Given the description of an element on the screen output the (x, y) to click on. 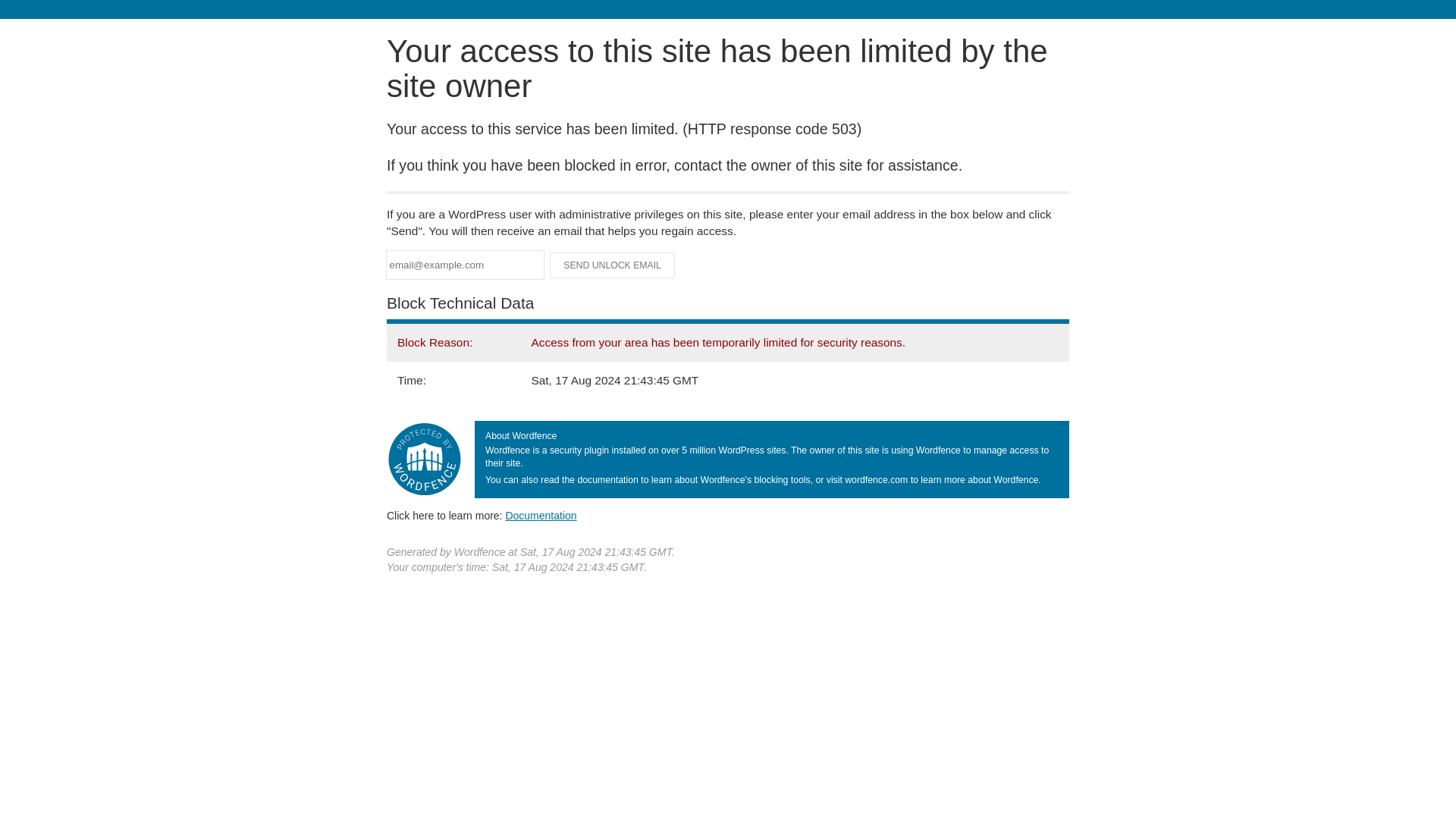
Send Unlock Email (612, 265)
Documentation (540, 515)
Send Unlock Email (612, 265)
